Given the description of an element on the screen output the (x, y) to click on. 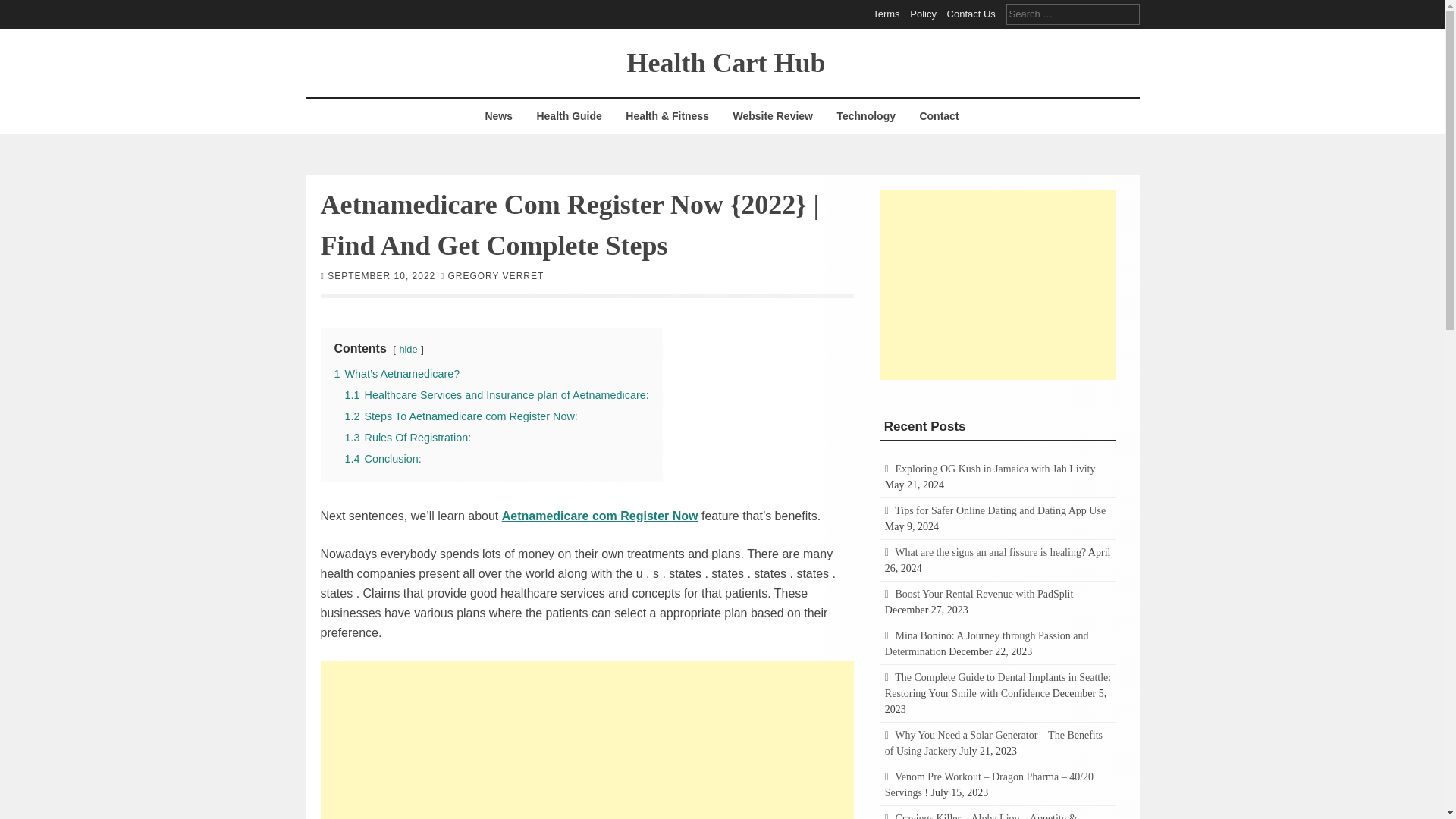
Terms (885, 13)
Health Guide (568, 116)
Tips for Safer Online Dating and Dating App Use (1000, 510)
1.1 Healthcare Services and Insurance plan of Aetnamedicare: (495, 394)
Advertisement (586, 739)
Contact Us (971, 13)
hide (407, 348)
Advertisement (998, 284)
GREGORY VERRET (494, 275)
What are the signs an anal fissure is healing? (990, 552)
Website Review (772, 116)
Contact (938, 116)
Health Cart Hub (725, 61)
Technology (866, 116)
